Given the description of an element on the screen output the (x, y) to click on. 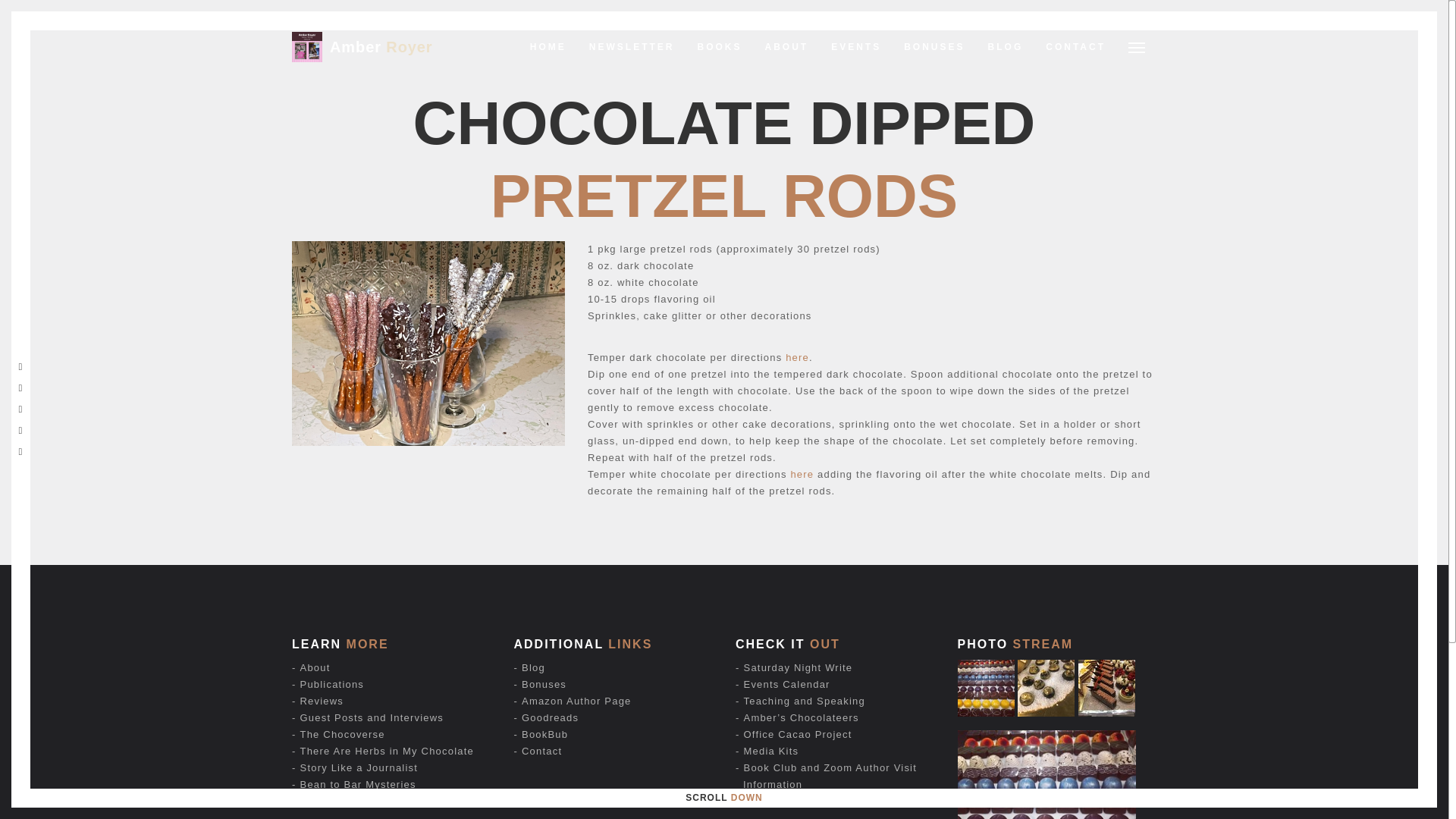
here (797, 357)
NEWSLETTER (632, 47)
HOME (547, 47)
SCROLL DOWN (723, 797)
CONTACT (1075, 47)
SCROLL DOWN (723, 797)
ABOUT (787, 47)
About (314, 667)
BLOG (1005, 47)
here (801, 473)
BOOKS (719, 47)
EVENTS (855, 47)
BONUSES (933, 47)
Amber Royer (381, 46)
